Given the description of an element on the screen output the (x, y) to click on. 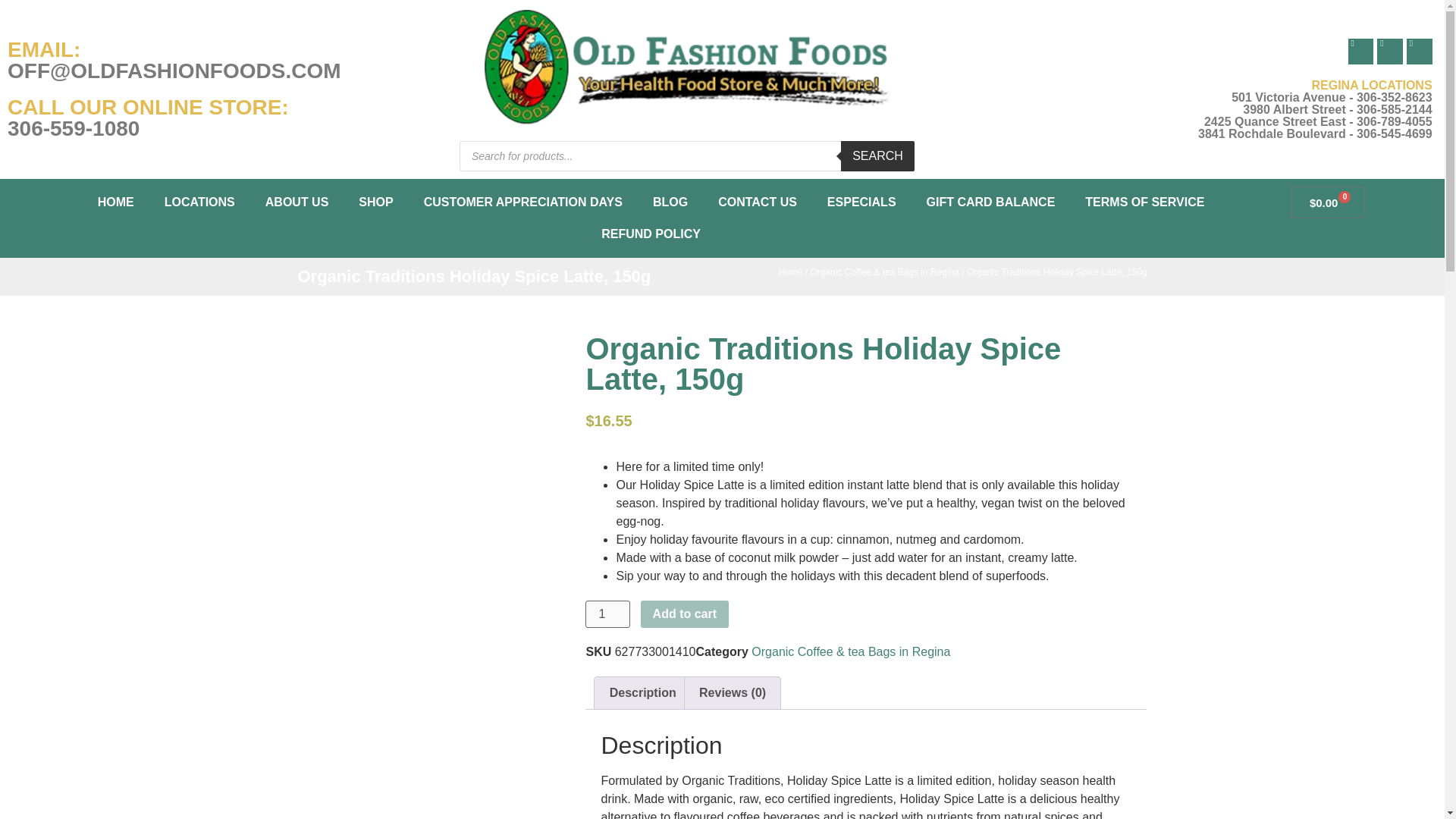
TERMS OF SERVICE (1145, 202)
Home (789, 271)
ABOUT US (296, 202)
CUSTOMER APPRECIATION DAYS (523, 202)
HOME (115, 202)
Description (642, 693)
GIFT CARD BALANCE (990, 202)
Add to cart (684, 614)
1 (606, 614)
REFUND POLICY (651, 234)
CONTACT US (757, 202)
ESPECIALS (861, 202)
LOCATIONS (199, 202)
SEARCH (877, 155)
BLOG (670, 202)
